Given the description of an element on the screen output the (x, y) to click on. 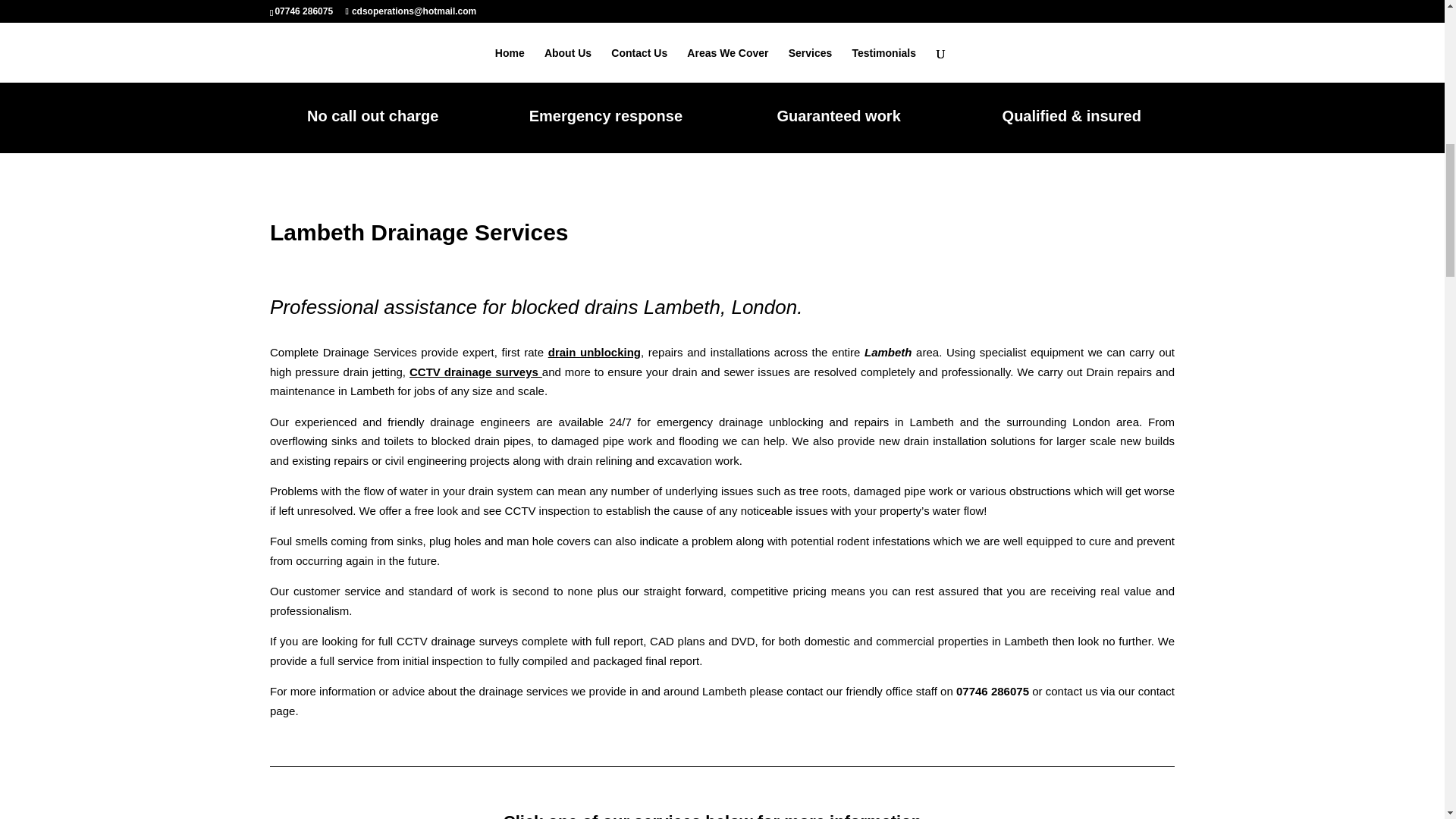
London (1090, 421)
contact page (721, 700)
CCTV (412, 640)
